Given the description of an element on the screen output the (x, y) to click on. 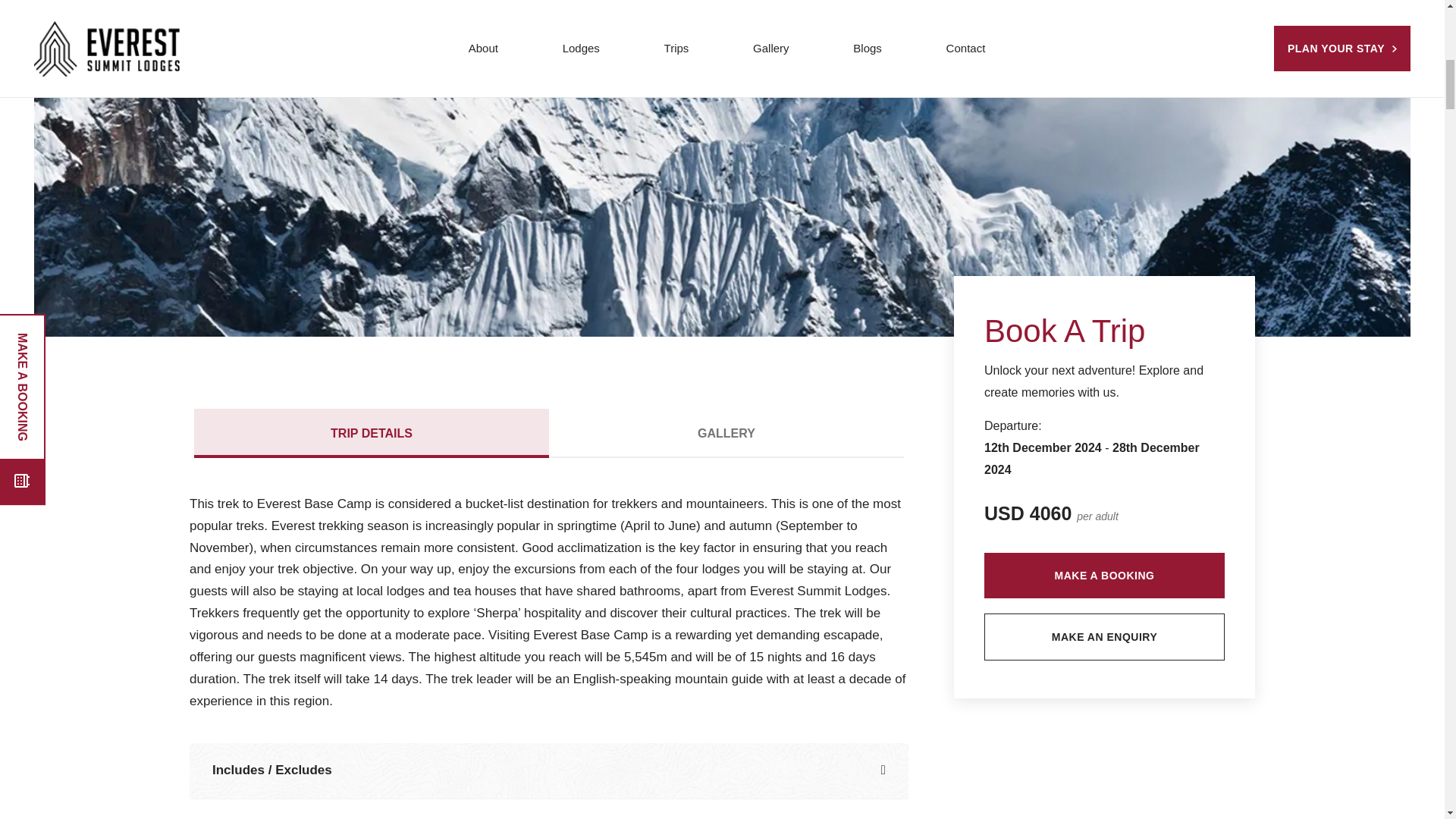
TRIP DETAILS (370, 432)
MAKE AN ENQUIRY (1104, 636)
MAKE A BOOKING (1104, 575)
GALLERY (726, 432)
